Given the description of an element on the screen output the (x, y) to click on. 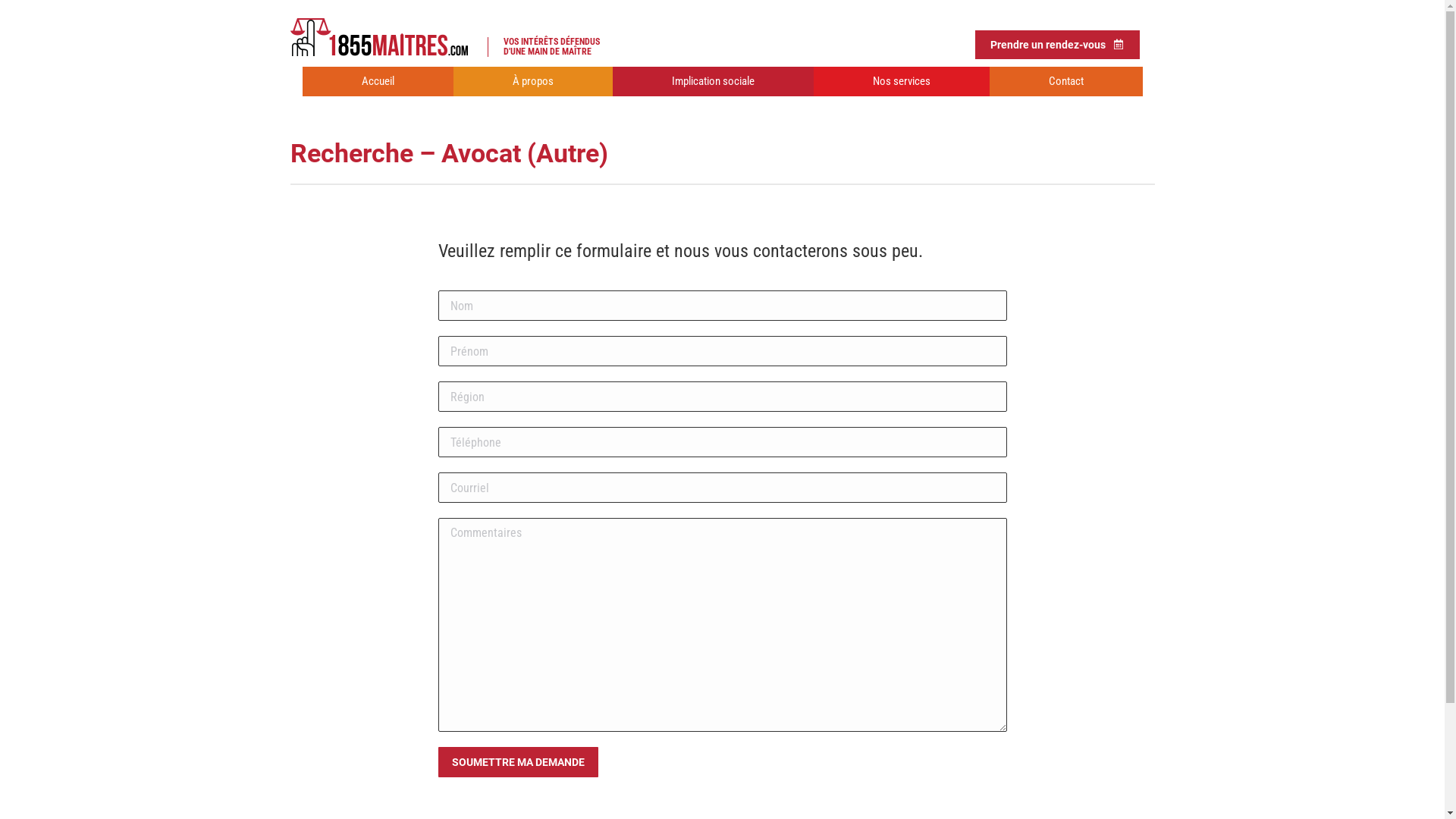
Prendre un rendez-vous Element type: text (1057, 44)
Accueil Element type: text (377, 81)
Contact Element type: text (1065, 81)
Implication sociale Element type: text (713, 81)
SOUMETTRE MA DEMANDE Element type: text (518, 761)
Nos services Element type: text (900, 81)
